Given the description of an element on the screen output the (x, y) to click on. 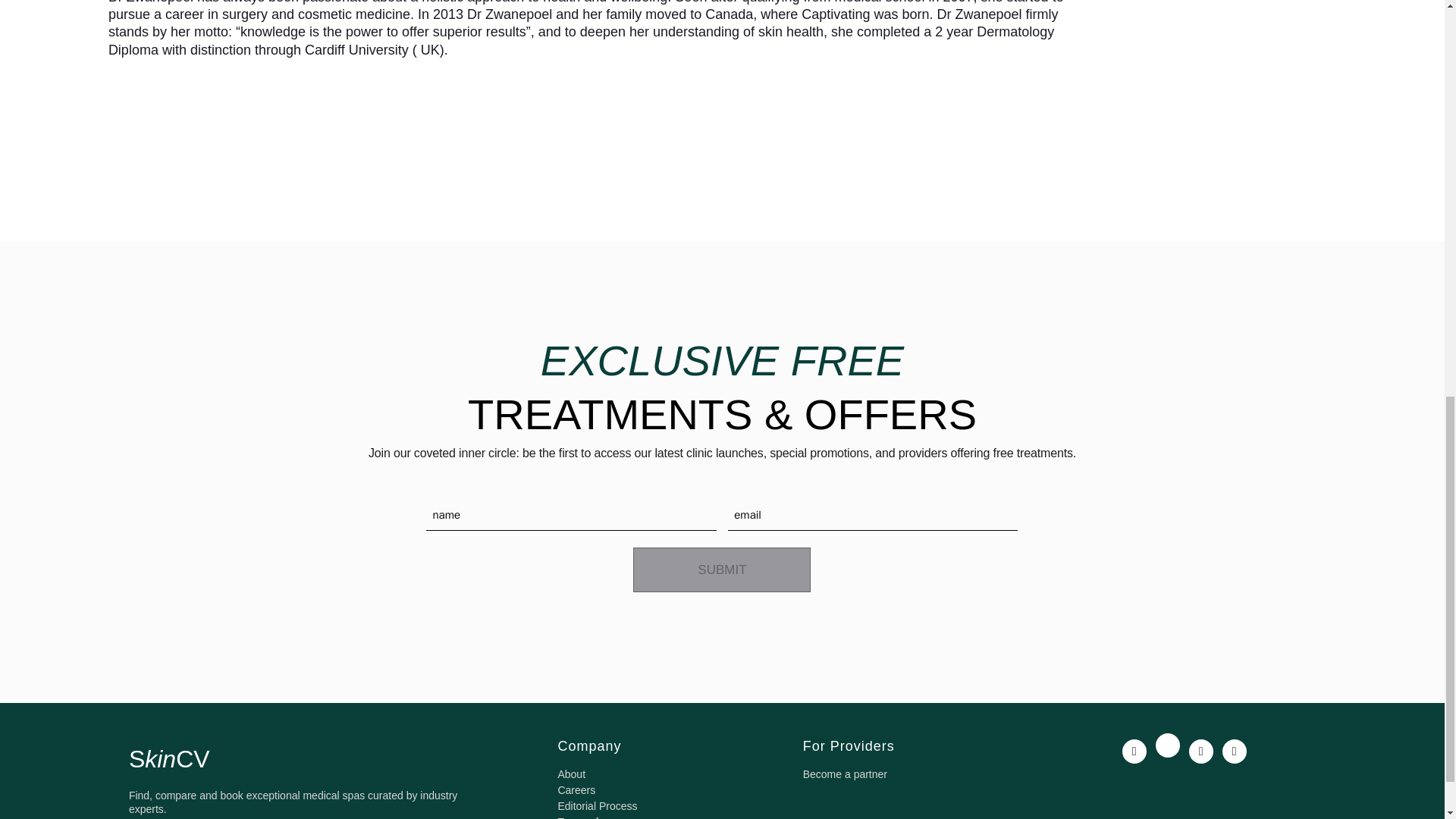
Become a partner (844, 774)
SUBMIT (721, 569)
About (571, 774)
Careers (576, 789)
Editorial Process (597, 806)
SUBMIT (721, 569)
